Given the description of an element on the screen output the (x, y) to click on. 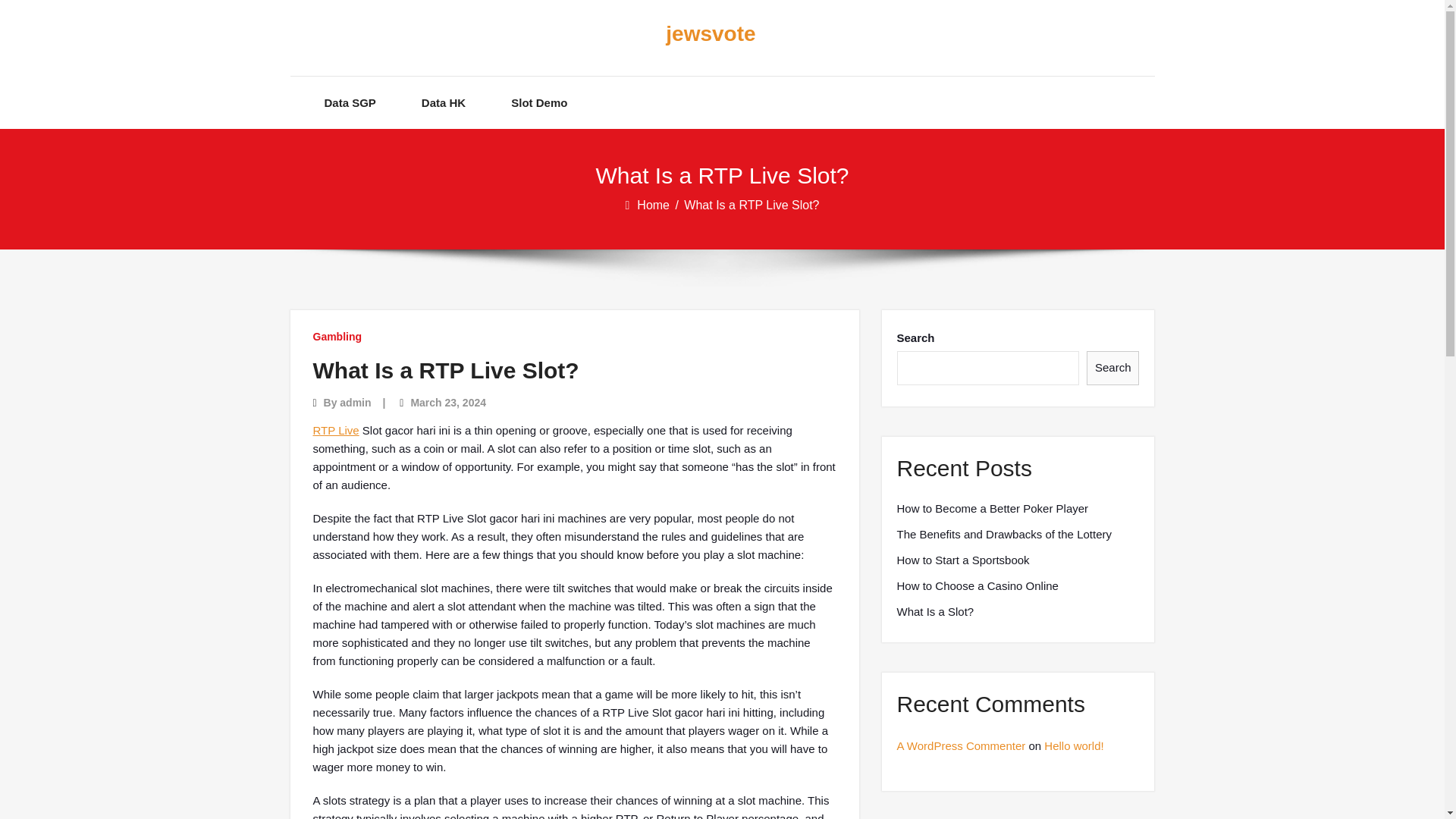
admin (355, 402)
Gambling (337, 336)
A WordPress Commenter (960, 745)
Data SGP (349, 102)
Hello world! (1073, 745)
Slot Demo (539, 102)
How to Start a Sportsbook (962, 560)
How to Choose a Casino Online (977, 586)
The Benefits and Drawbacks of the Lottery (1003, 534)
Search (1113, 367)
jewsvote (710, 34)
Home (654, 205)
March 23, 2024 (448, 402)
RTP Live (335, 430)
What Is a Slot? (935, 611)
